Given the description of an element on the screen output the (x, y) to click on. 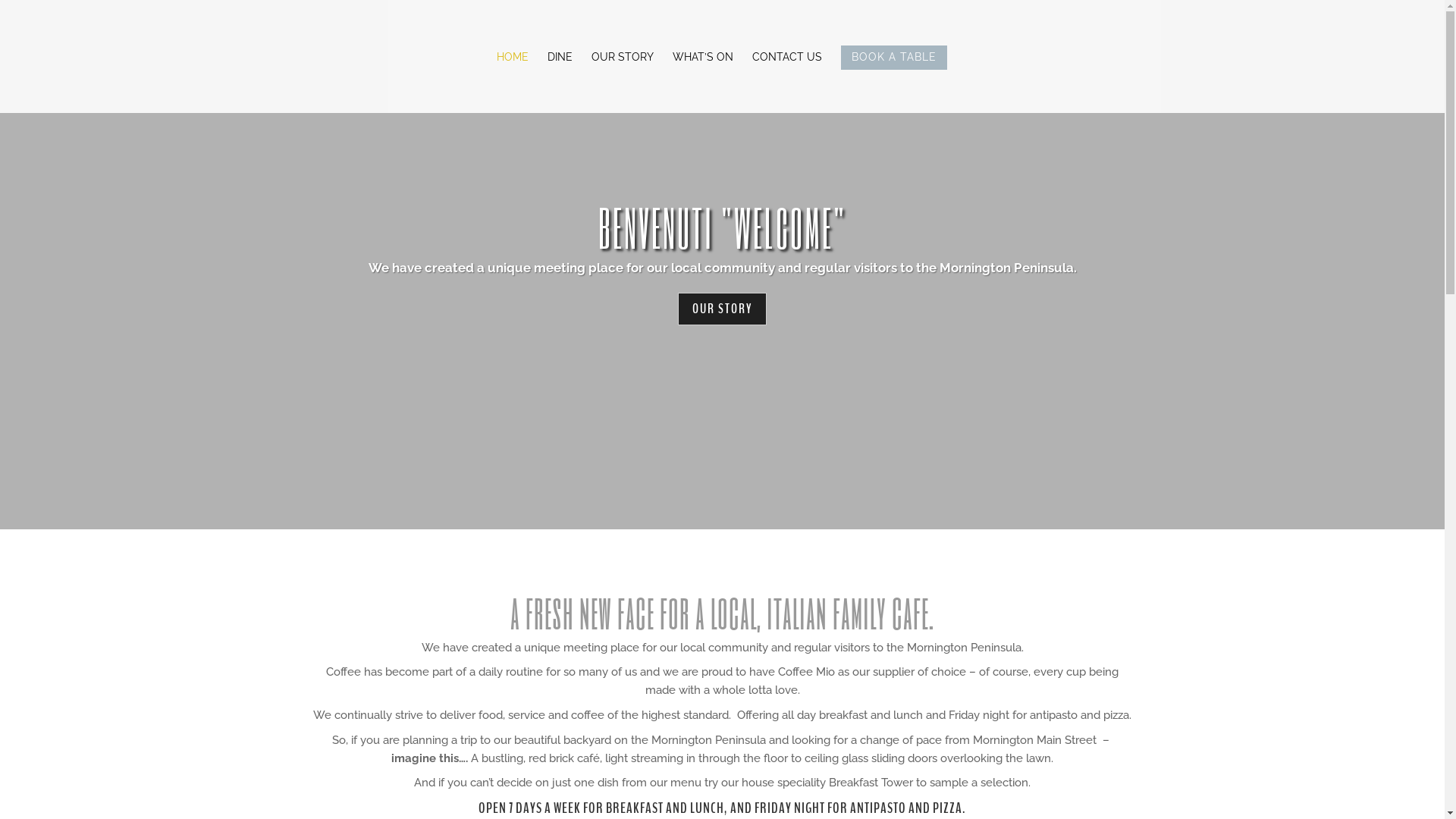
DINE Element type: text (559, 78)
HOME Element type: text (511, 78)
OUR STORY Element type: text (622, 78)
OUR STORY Element type: text (721, 308)
BOOK A TABLE Element type: text (893, 78)
CONTACT US Element type: text (787, 78)
BENVENUTI "WELCOME" Element type: text (722, 226)
